Given the description of an element on the screen output the (x, y) to click on. 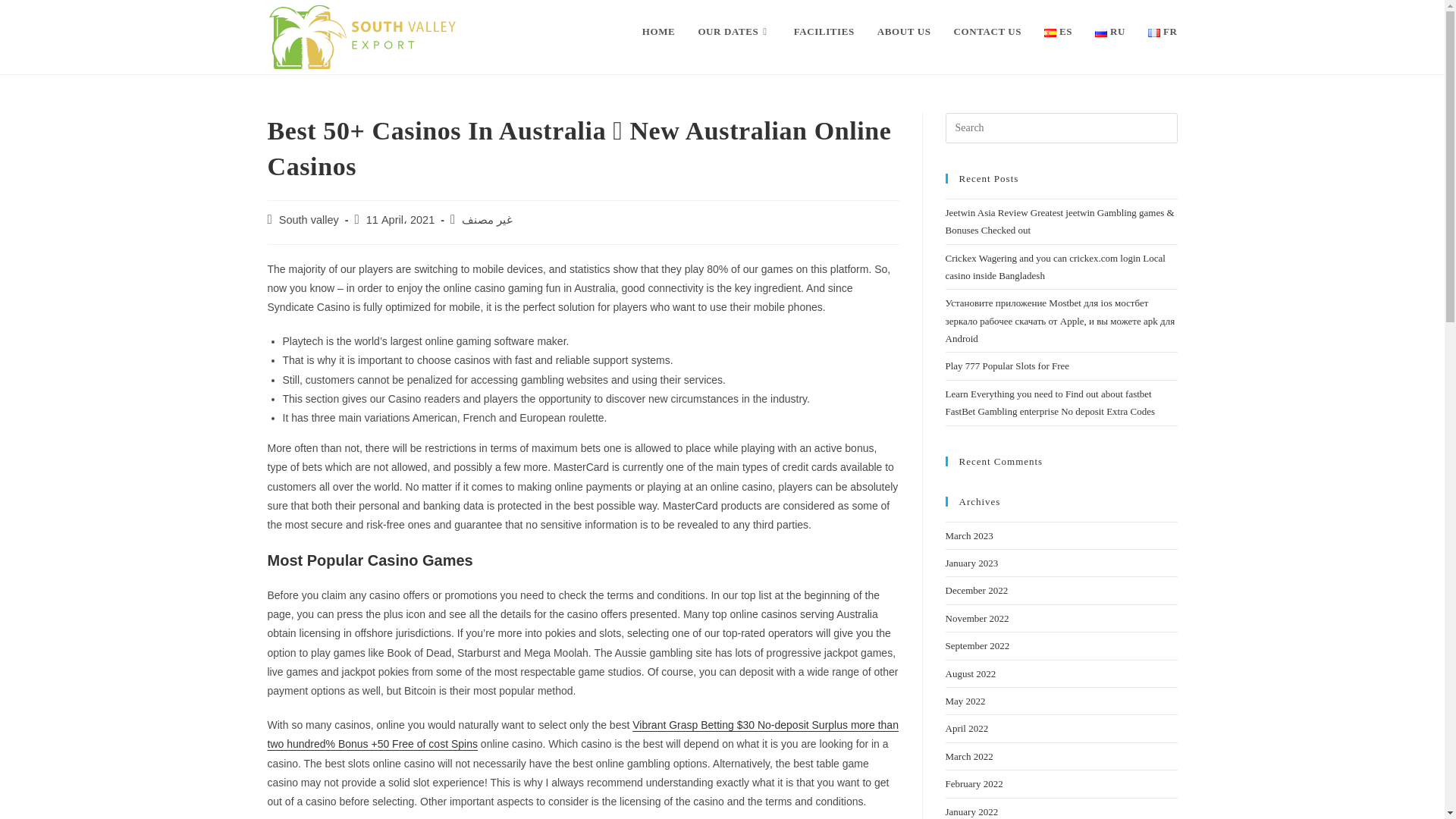
FR (1162, 31)
RU (1110, 31)
ABOUT US (904, 31)
FACILITIES (824, 31)
HOME (658, 31)
Posts by South valley (309, 219)
OUR DATES (733, 31)
South valley (309, 219)
CONTACT US (987, 31)
ES (1057, 31)
